Given the description of an element on the screen output the (x, y) to click on. 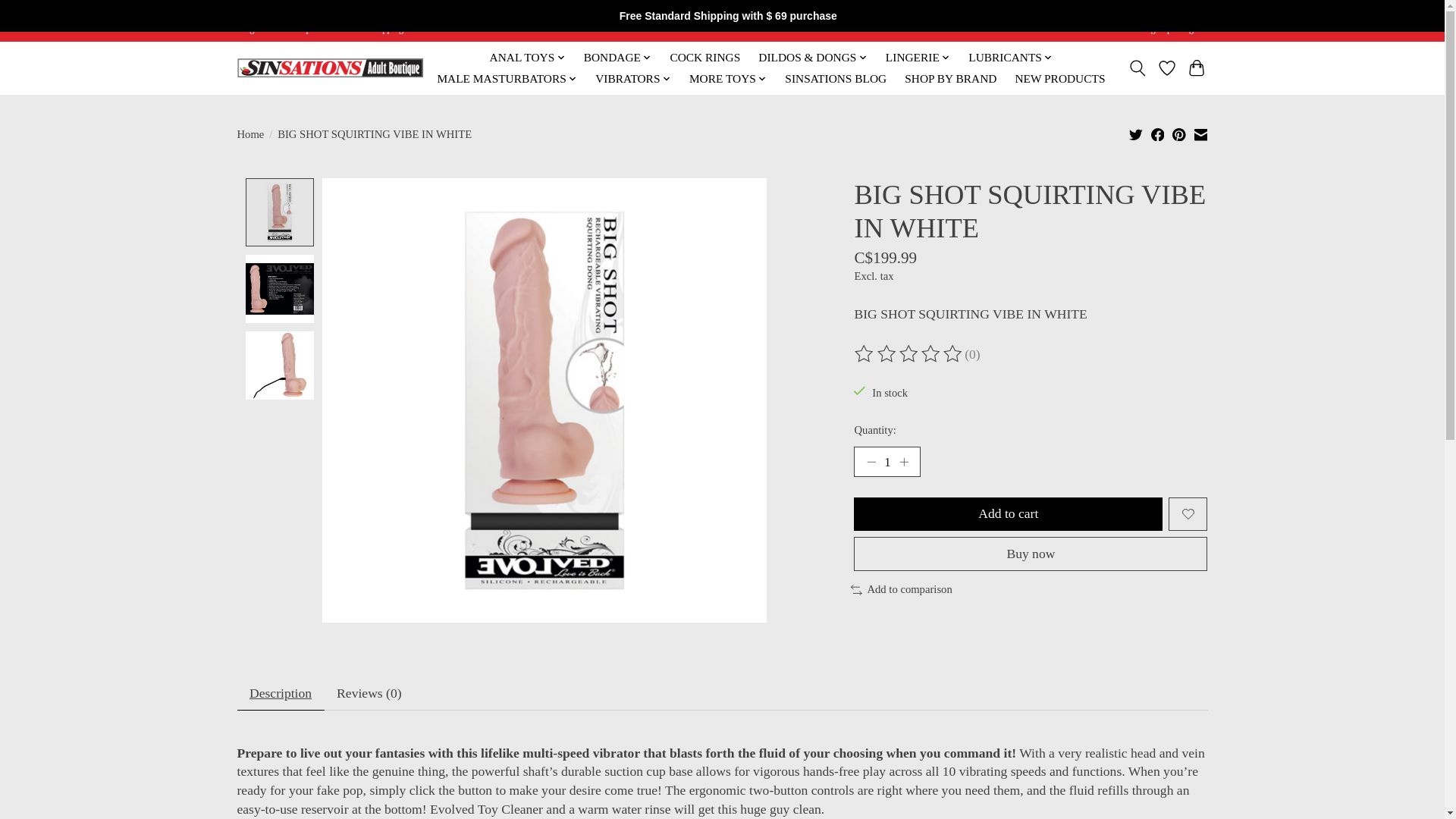
COCK RINGS (704, 56)
Sinsations Adult Boutique: Adult Sex Toy Store Windsor (328, 67)
Share on Facebook (1157, 133)
ANAL TOYS (526, 56)
Share on Pinterest (1178, 133)
My account (1173, 28)
BONDAGE (617, 56)
Share by Email (1200, 133)
Share on Twitter (1135, 133)
1 (886, 461)
